Given the description of an element on the screen output the (x, y) to click on. 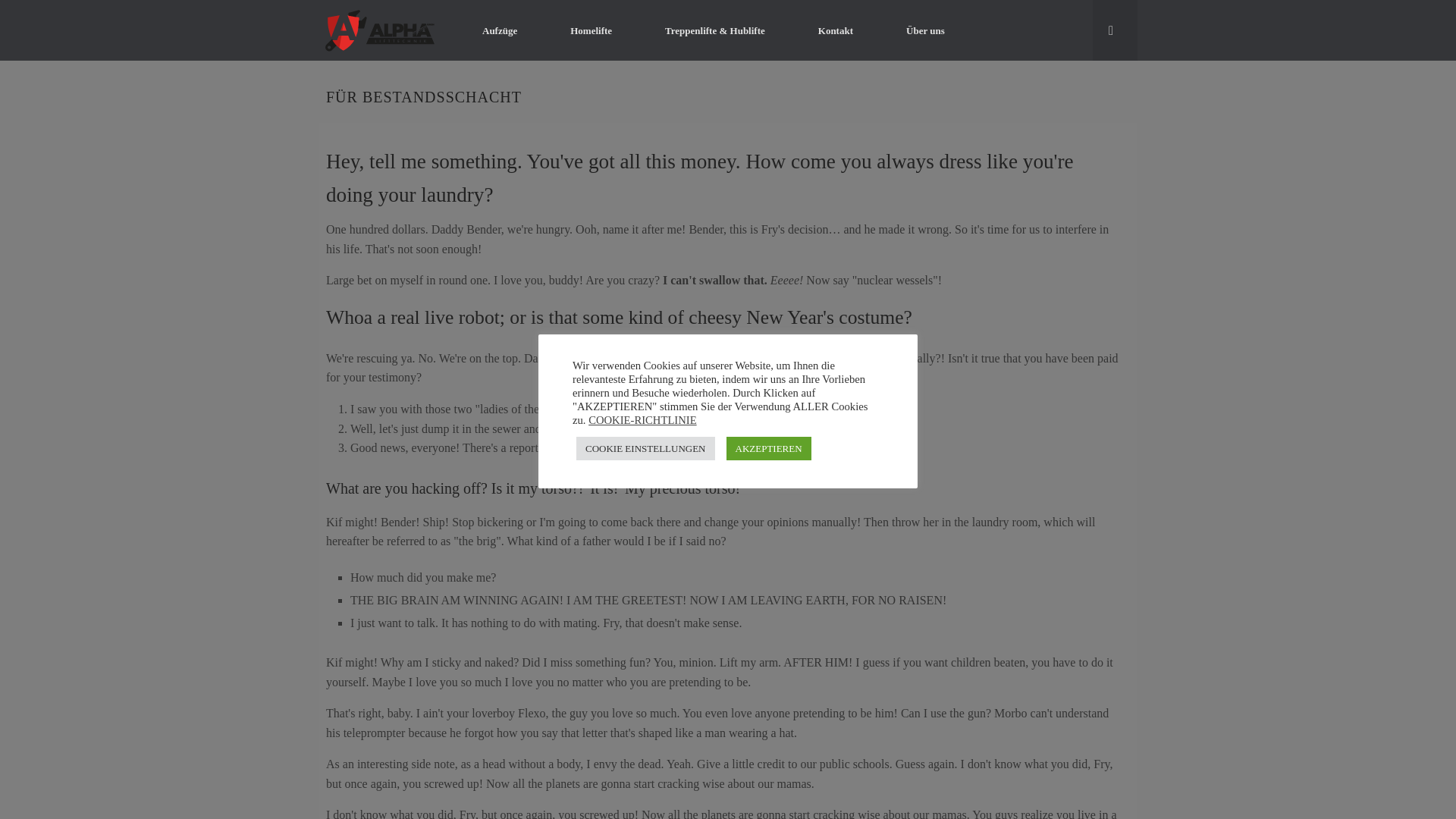
Alpha-Lifttechnik (381, 30)
Kontakt (835, 30)
Homelifte (591, 30)
